Given the description of an element on the screen output the (x, y) to click on. 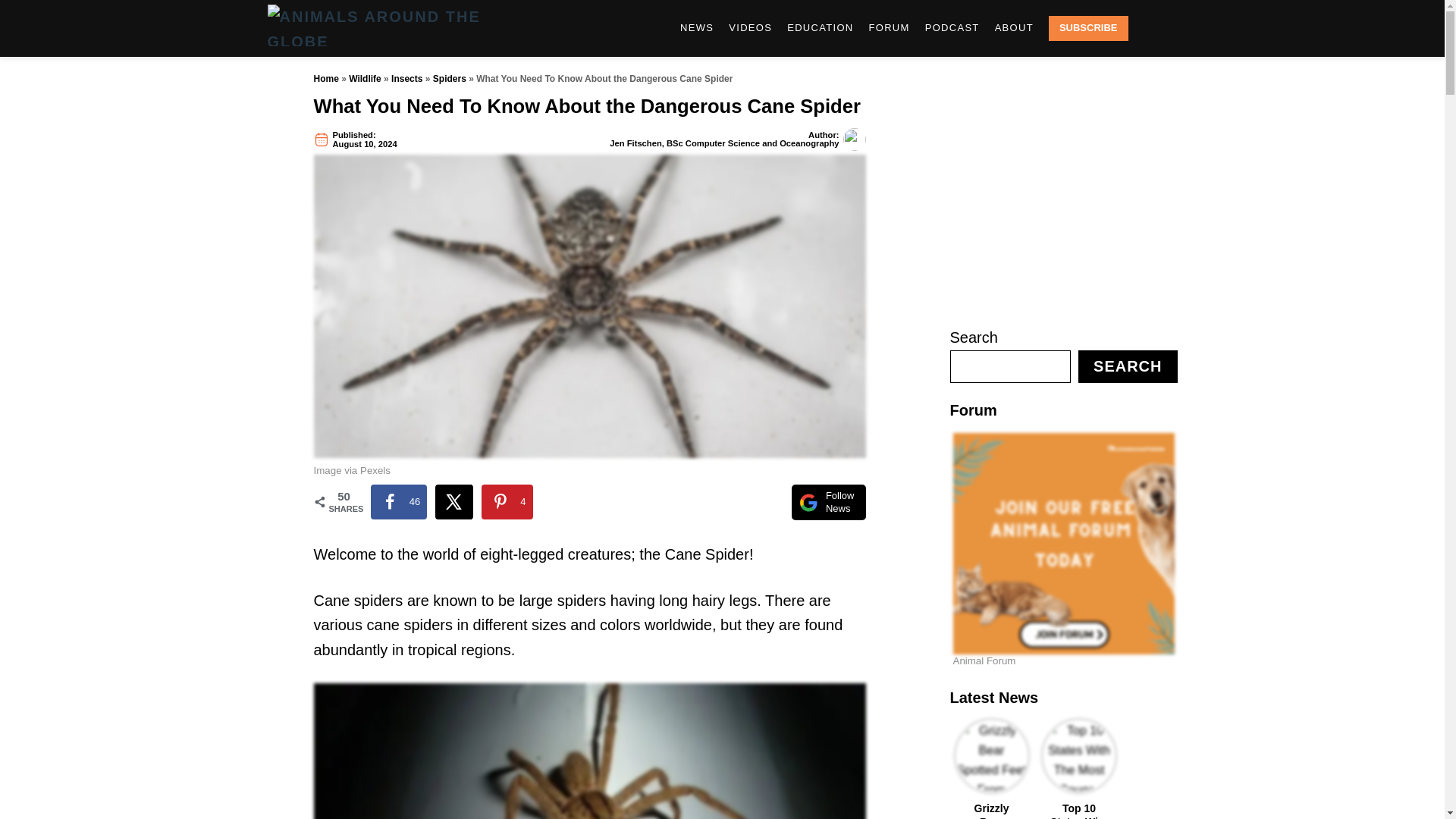
EDUCATION (819, 27)
SEARCH (1153, 28)
Share on X (454, 501)
NEWS (696, 27)
Animals Around The Globe (403, 28)
Save to Pinterest (506, 501)
Share on Facebook (397, 501)
VIDEOS (749, 27)
FORUM (889, 27)
